Given the description of an element on the screen output the (x, y) to click on. 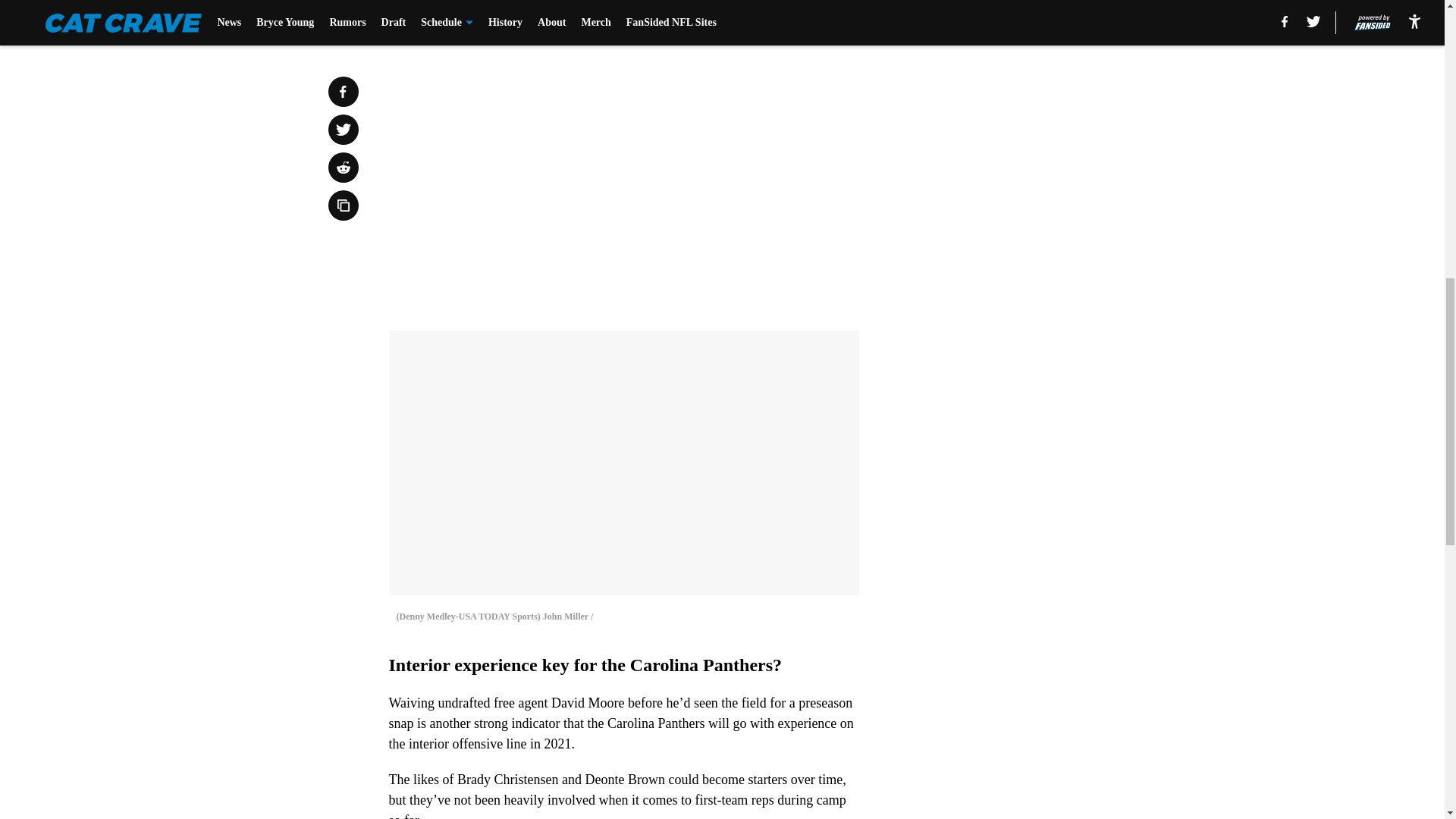
Prev (433, 20)
Next (813, 20)
